Given the description of an element on the screen output the (x, y) to click on. 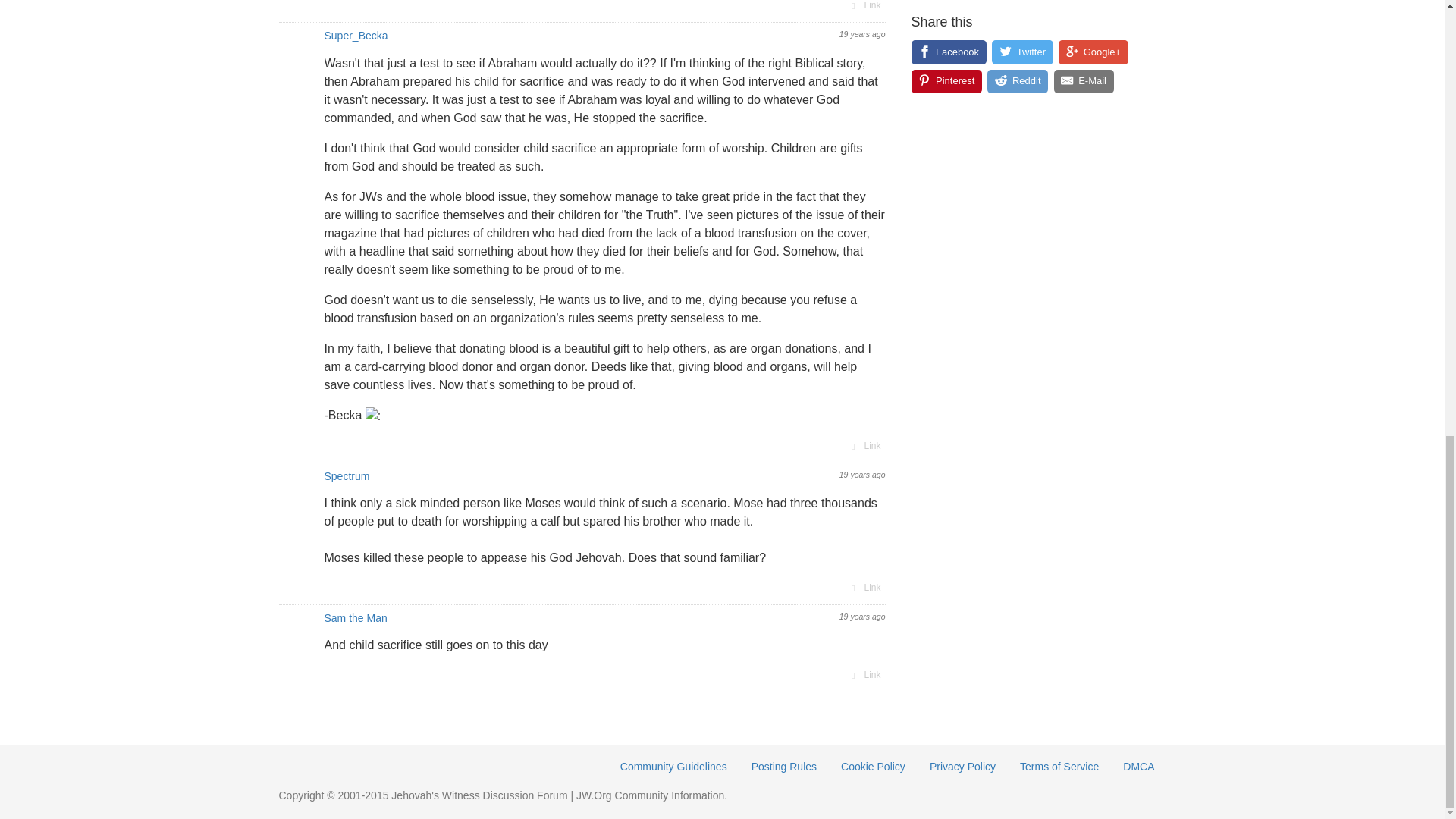
Posting Rules (783, 767)
Terms of Service (1059, 767)
DMCA (1139, 767)
Community Guidelines (673, 767)
Spectrum (346, 476)
Privacy Policy (962, 767)
Link (864, 674)
:smile: (374, 416)
Cookie Policy (873, 767)
Link (864, 587)
